Given the description of an element on the screen output the (x, y) to click on. 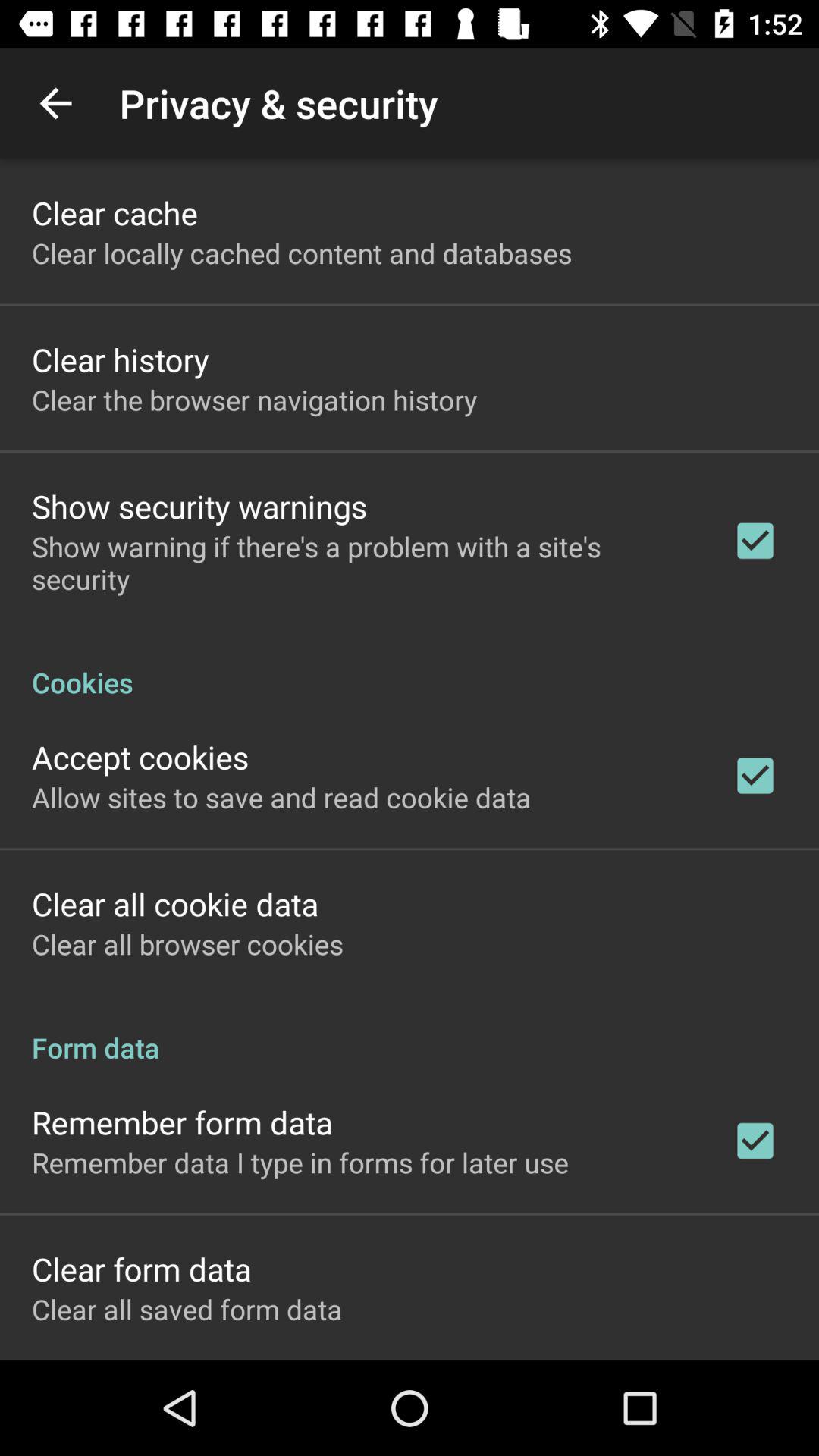
press the accept cookies (140, 756)
